Given the description of an element on the screen output the (x, y) to click on. 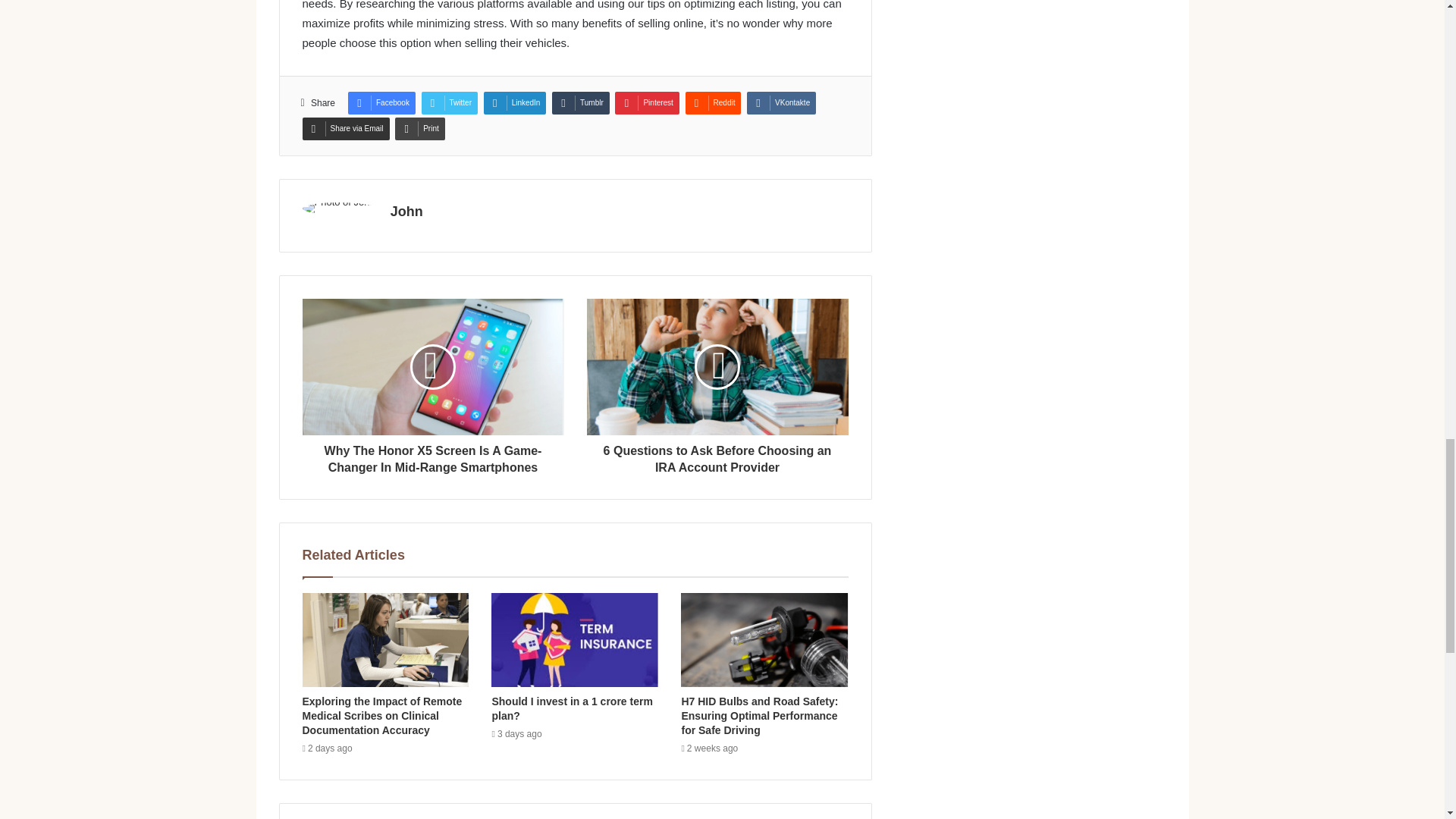
LinkedIn (515, 102)
Tumblr (580, 102)
Tumblr (580, 102)
Twitter (449, 102)
Pinterest (646, 102)
Facebook (380, 102)
Facebook (380, 102)
Twitter (449, 102)
LinkedIn (515, 102)
